Given the description of an element on the screen output the (x, y) to click on. 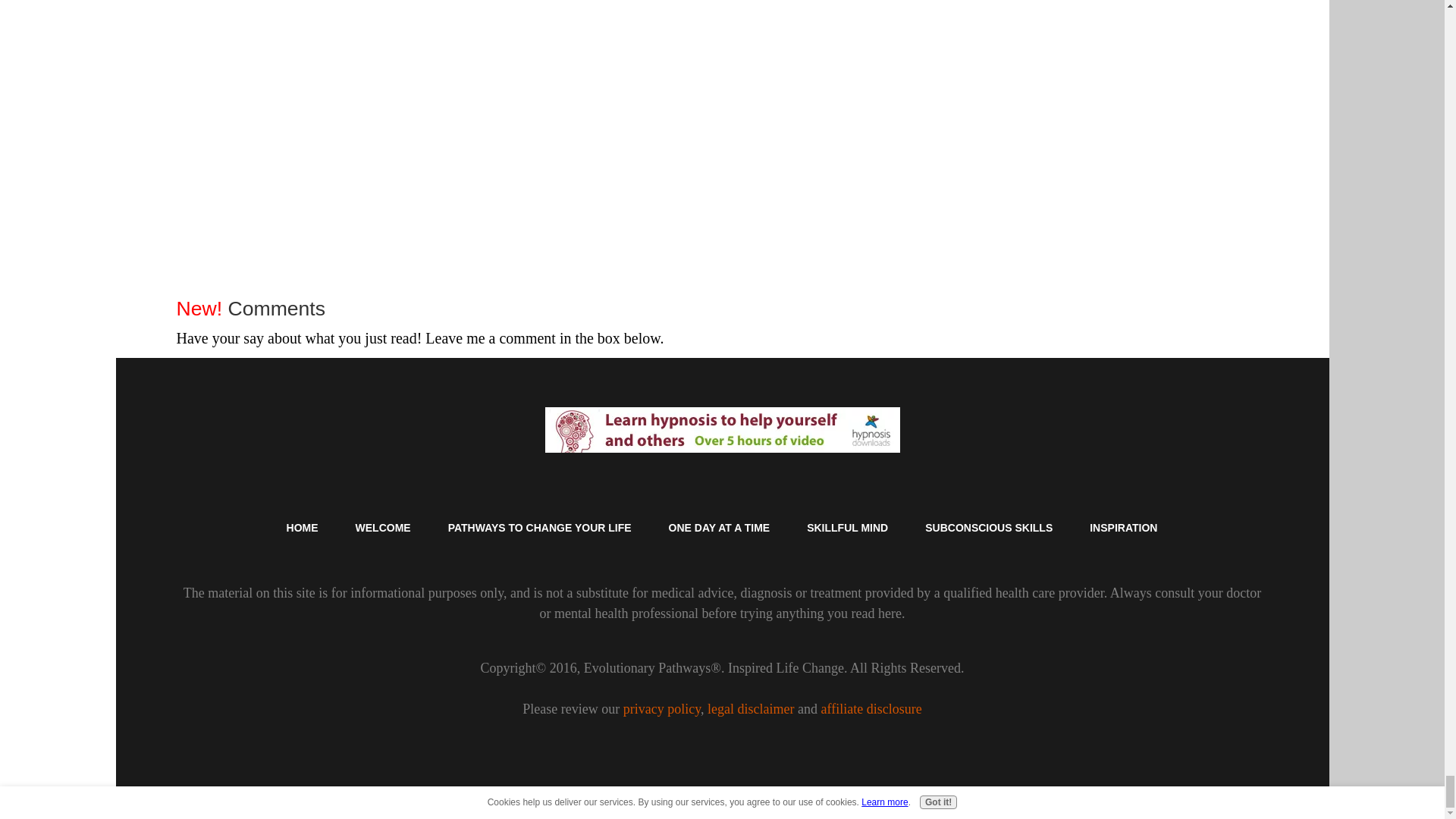
HOME (302, 527)
SUBCONSCIOUS SKILLS (989, 527)
ONE DAY AT A TIME (719, 527)
PATHWAYS TO CHANGE YOUR LIFE (539, 527)
